Given the description of an element on the screen output the (x, y) to click on. 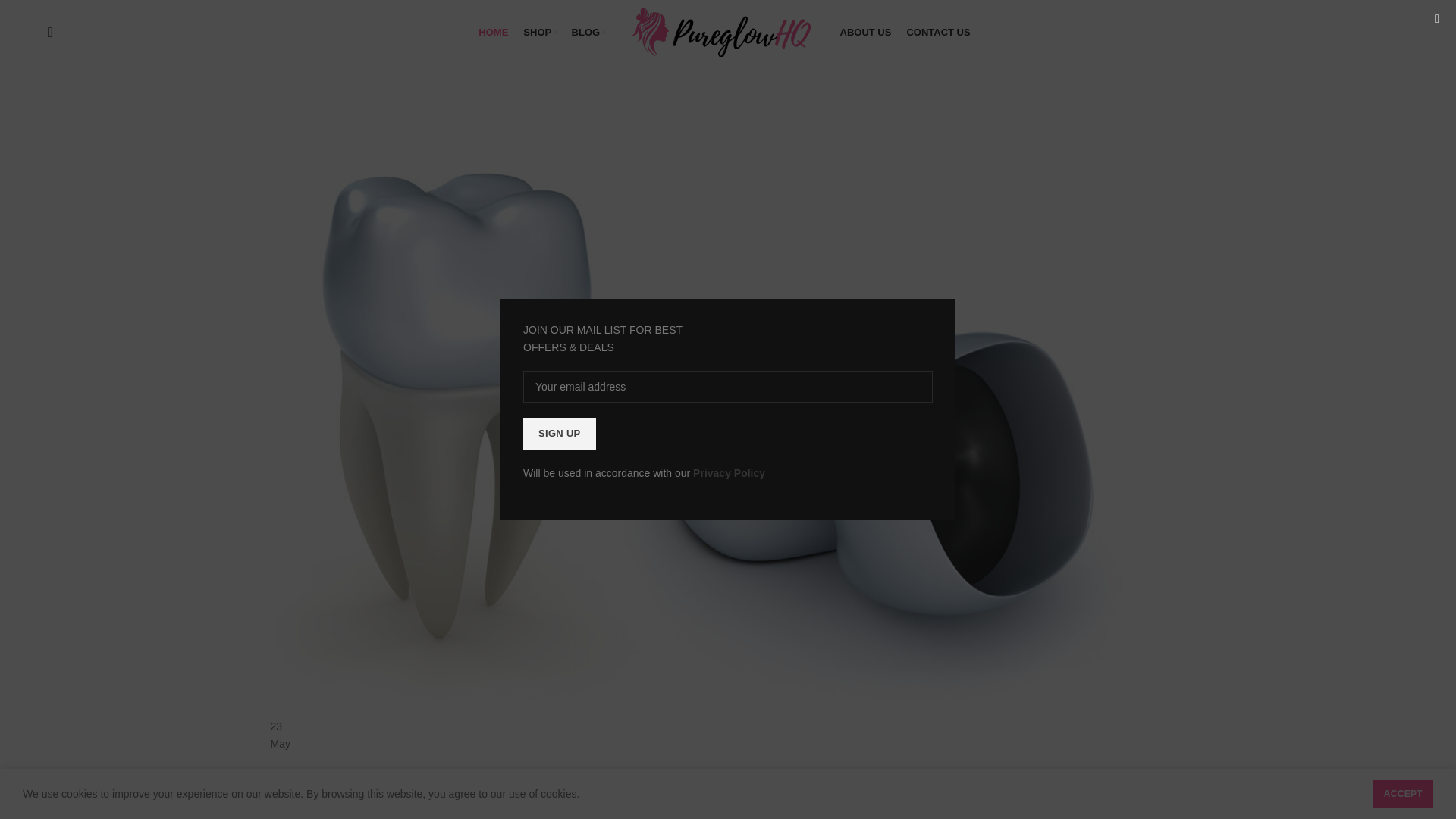
Sign up (558, 433)
Privacy Policy (729, 472)
HOME (492, 31)
Sign up (558, 433)
SHOP (539, 31)
